Given the description of an element on the screen output the (x, y) to click on. 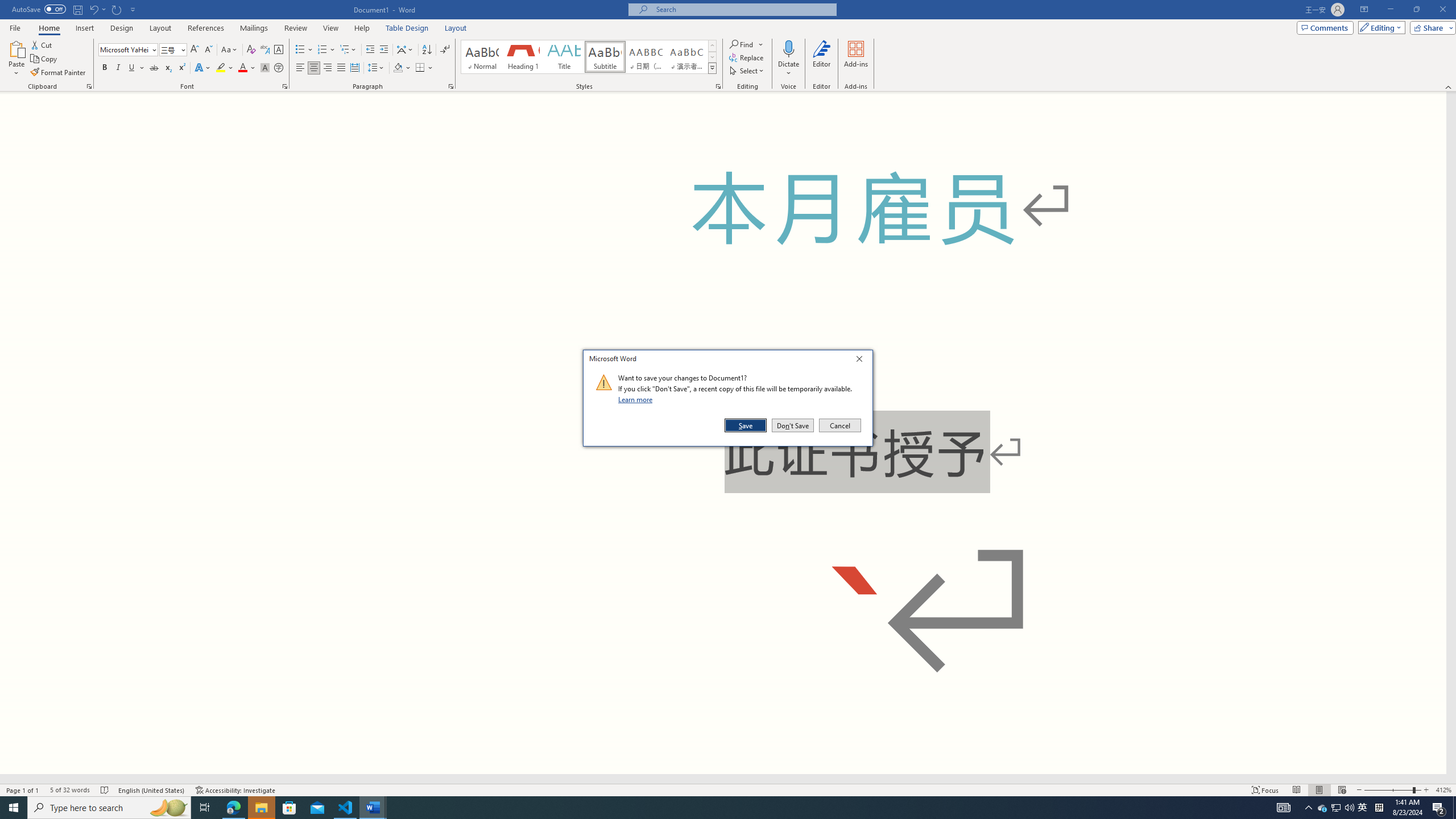
Sort... (426, 49)
Page Number Page 1 of 1 (22, 790)
Show desktop (1454, 807)
Word Count 5 of 32 words (69, 790)
Grow Font (193, 49)
Don't Save (792, 425)
Shading (402, 67)
Align Right (327, 67)
Type here to search (108, 807)
Shading RGB(0, 0, 0) (397, 67)
Task View (204, 807)
